Given the description of an element on the screen output the (x, y) to click on. 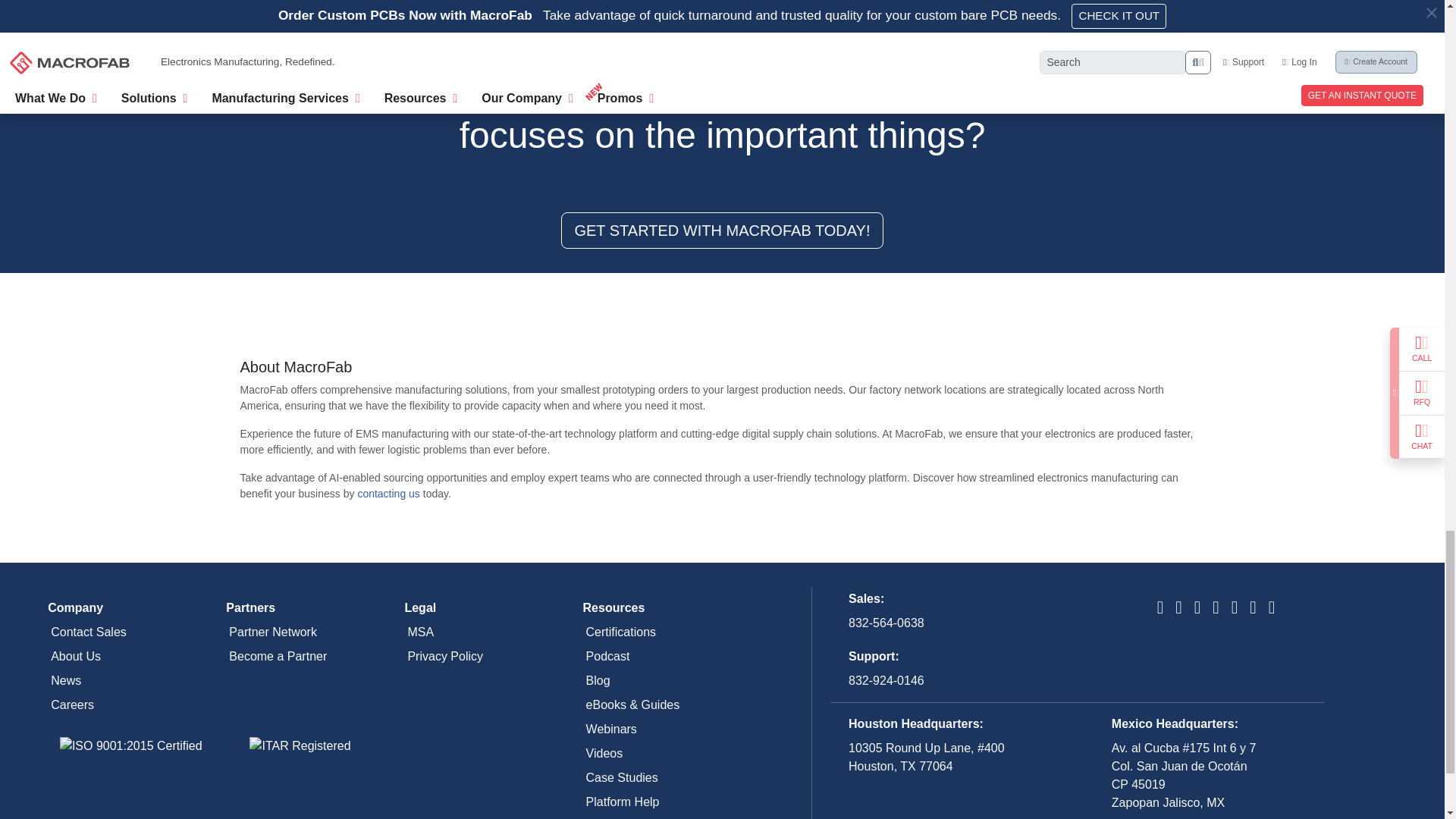
Facebook (1215, 608)
LinkedIn (1177, 608)
Instagram (1234, 608)
GitHub (1252, 608)
Discourse (1271, 608)
YouTube (1160, 608)
Twitter (1196, 608)
